Given the description of an element on the screen output the (x, y) to click on. 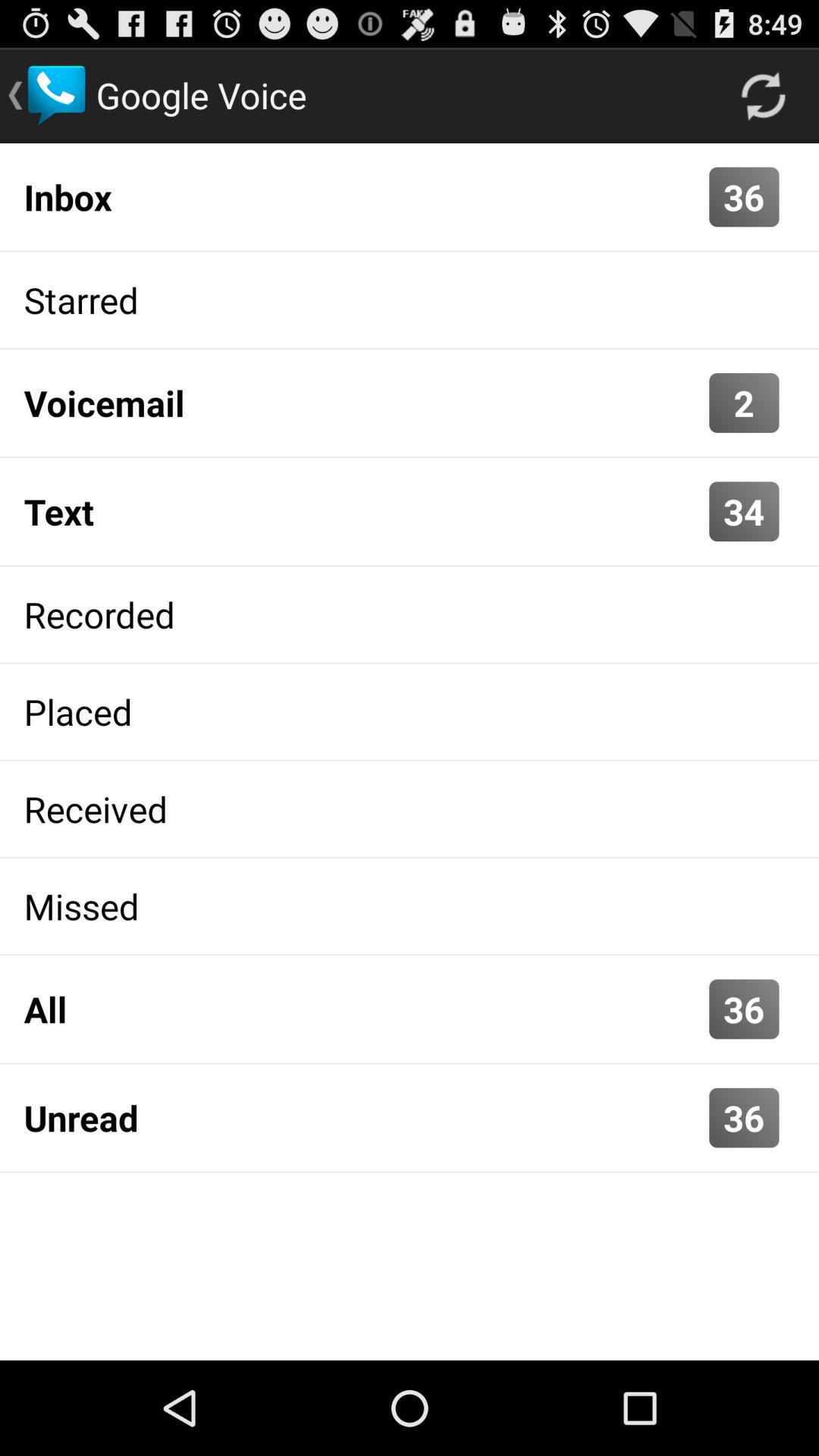
select item above the 36 item (763, 95)
